Given the description of an element on the screen output the (x, y) to click on. 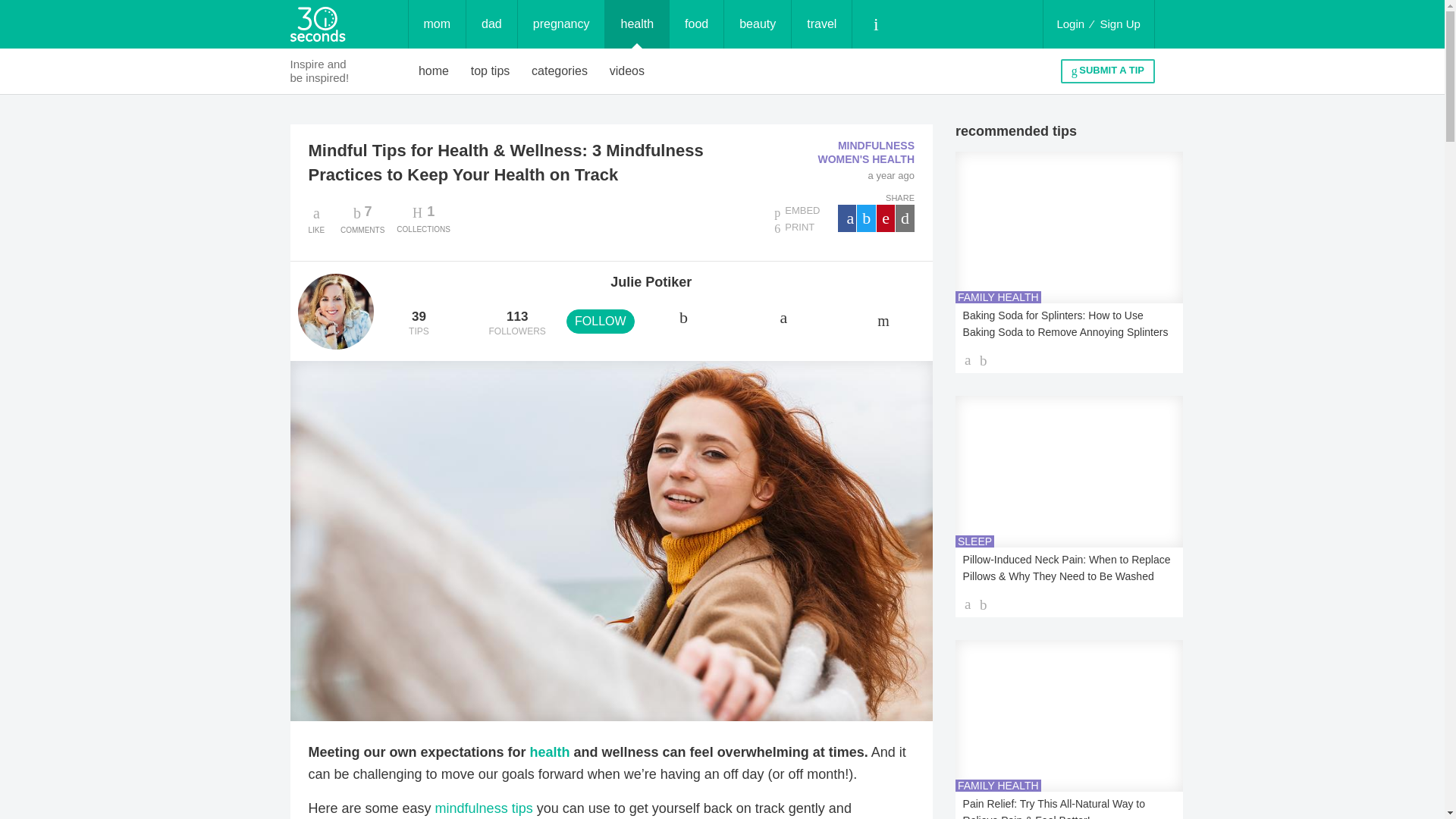
Sign Up (1120, 23)
health (636, 24)
home (362, 218)
travel (433, 71)
categories (821, 24)
mom (559, 71)
top tips (436, 24)
Login (489, 71)
beauty (1069, 23)
pregnancy (756, 24)
food (561, 24)
dad (696, 24)
